Given the description of an element on the screen output the (x, y) to click on. 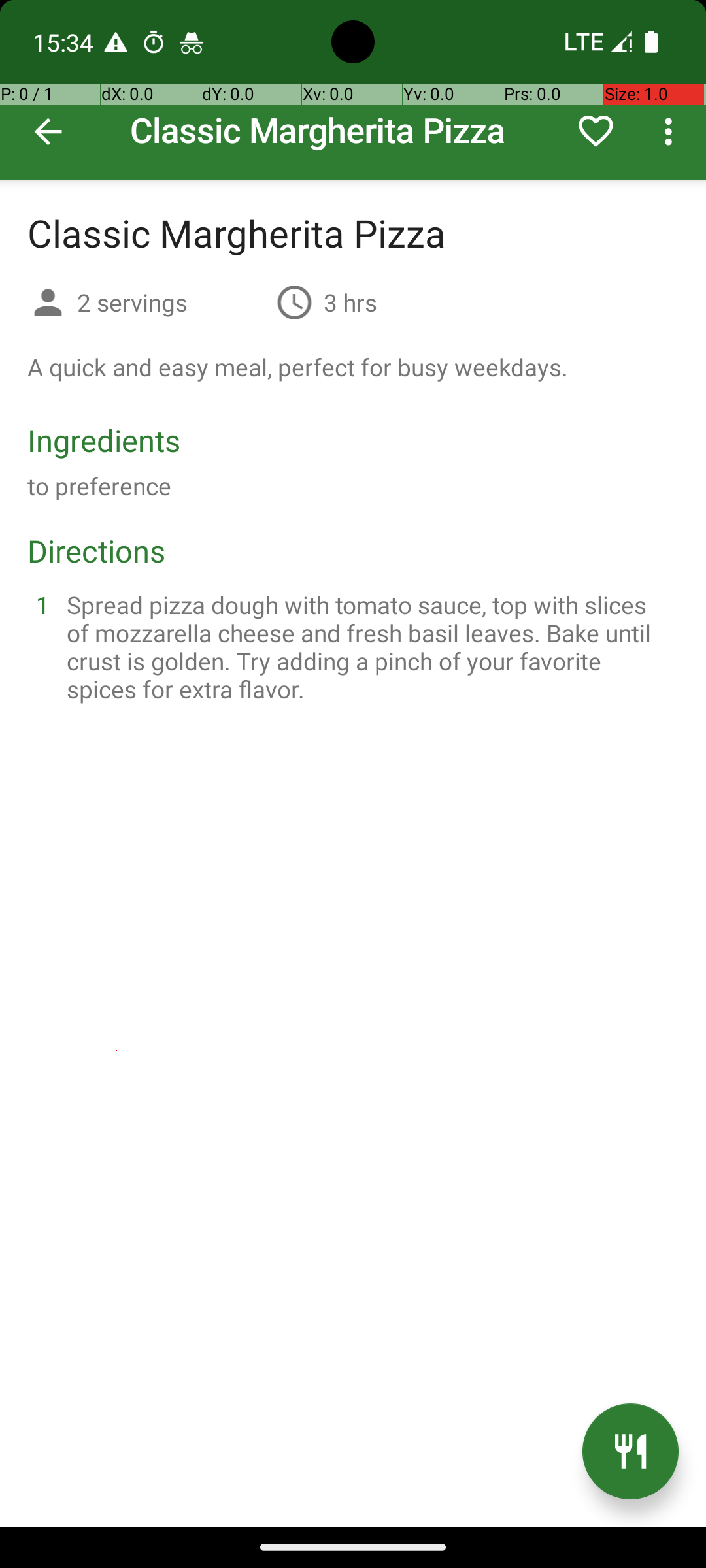
Classic Margherita Pizza Element type: android.widget.FrameLayout (353, 89)
2 servings Element type: android.widget.TextView (170, 301)
3 hrs Element type: android.widget.TextView (350, 301)
to preference Element type: android.widget.TextView (99, 485)
Spread pizza dough with tomato sauce, top with slices of mozzarella cheese and fresh basil leaves. Bake until crust is golden. Try adding a pinch of your favorite spices for extra flavor. Element type: android.widget.TextView (368, 646)
